Given the description of an element on the screen output the (x, y) to click on. 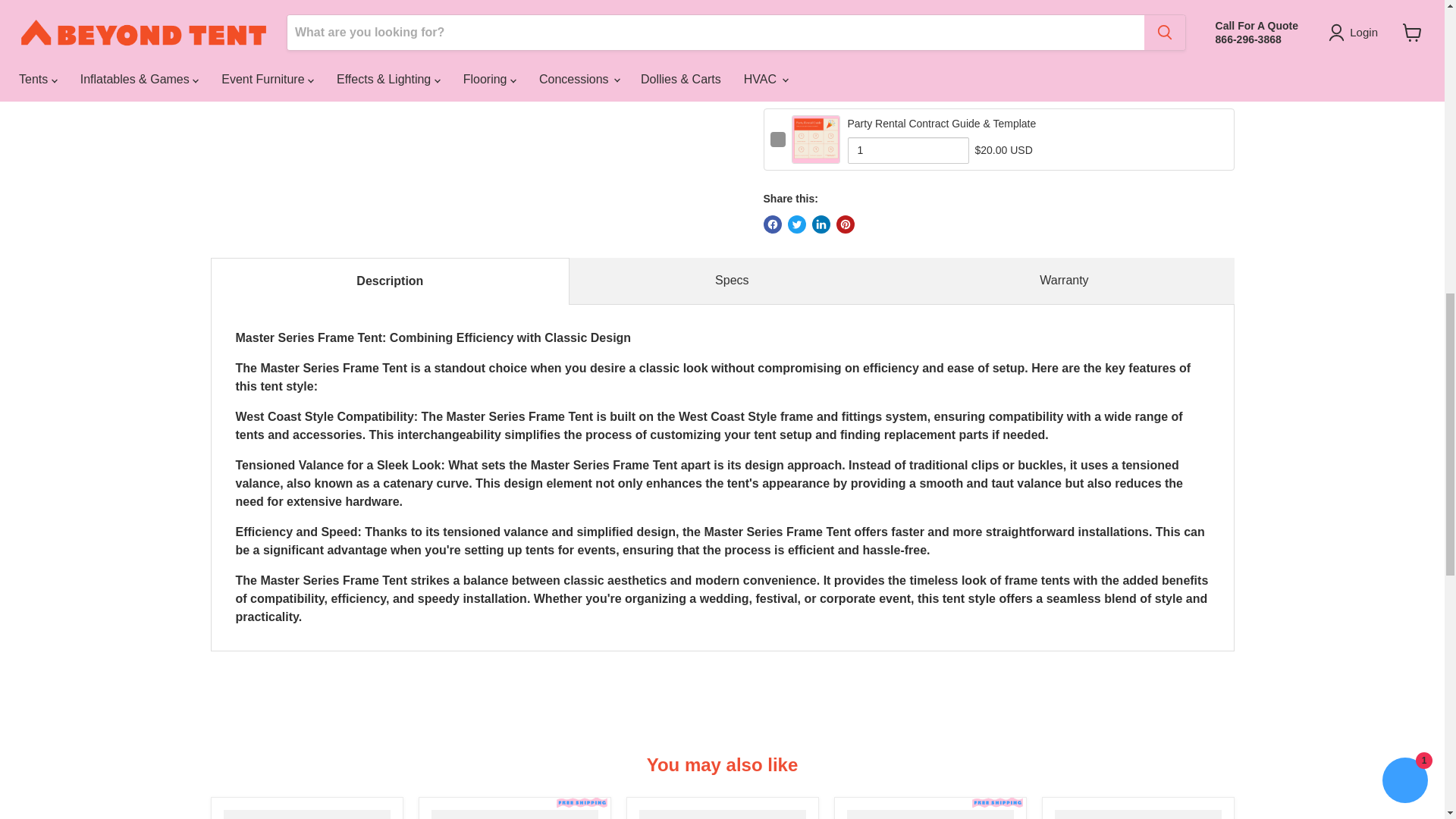
1 (1035, 10)
1 (1028, 68)
1 (908, 150)
